Given the description of an element on the screen output the (x, y) to click on. 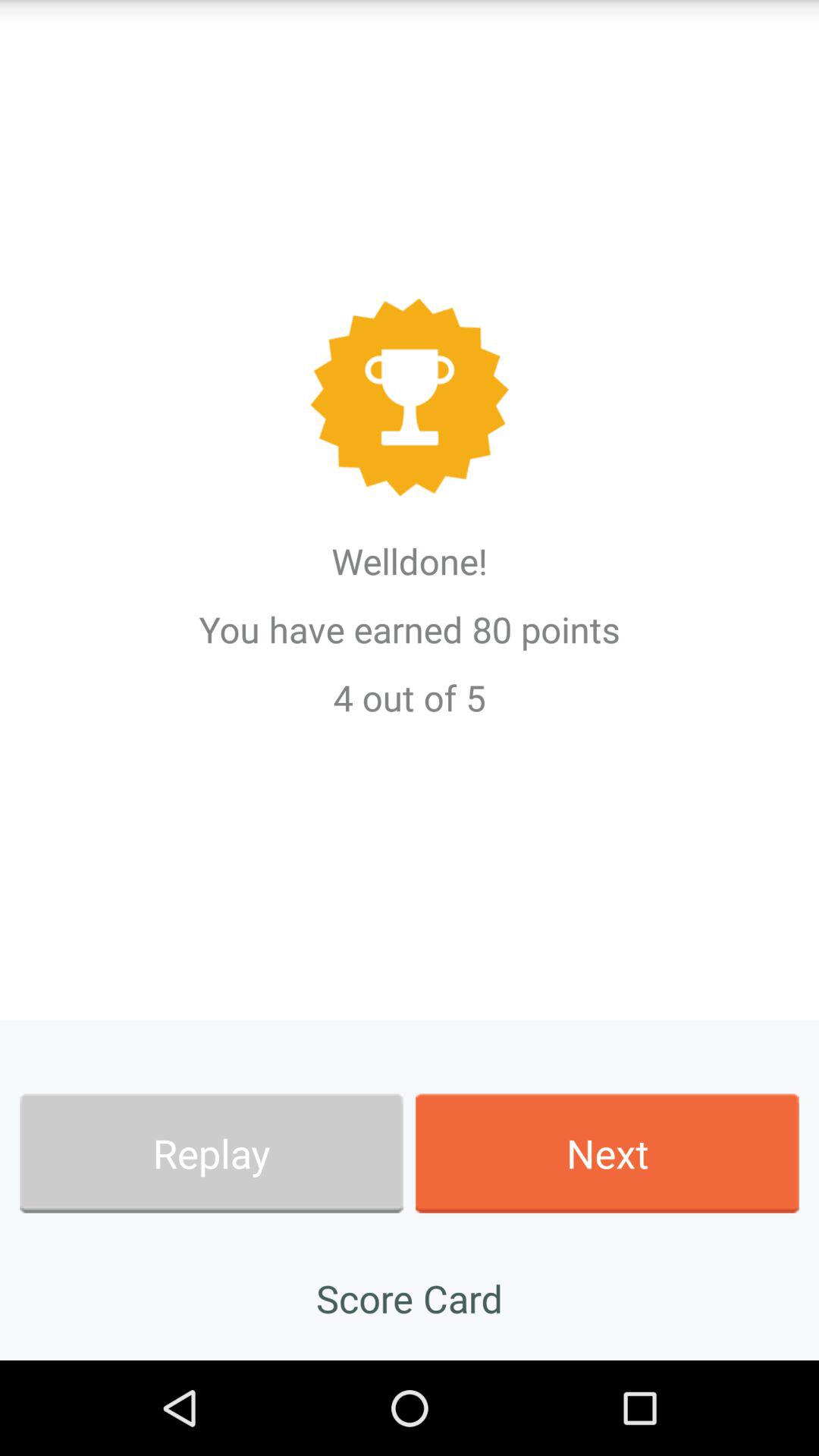
scroll to next icon (607, 1153)
